Given the description of an element on the screen output the (x, y) to click on. 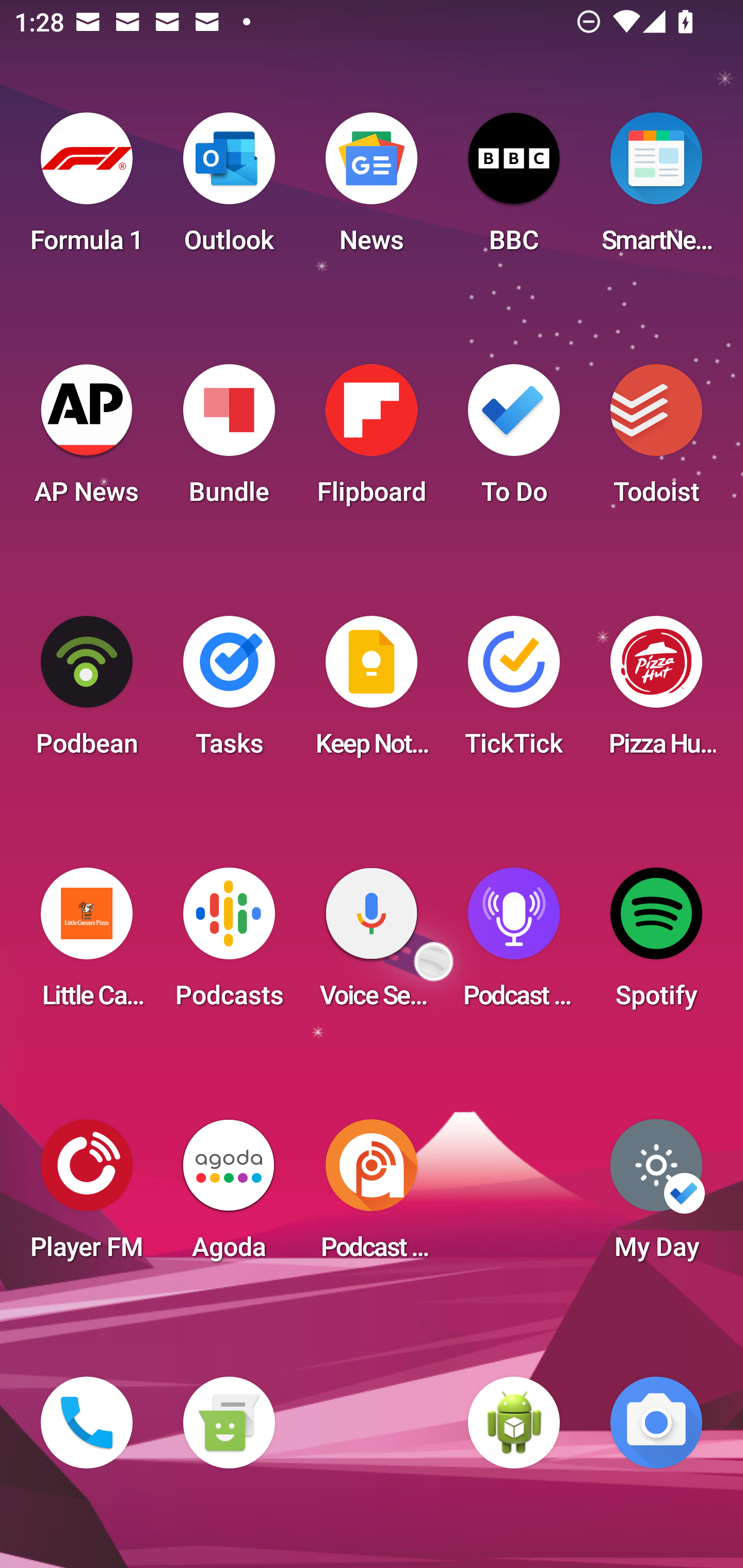
Formula 1 (86, 188)
Outlook (228, 188)
News (371, 188)
BBC (513, 188)
SmartNews (656, 188)
AP News (86, 440)
Bundle (228, 440)
Flipboard (371, 440)
To Do (513, 440)
Todoist (656, 440)
Podbean (86, 692)
Tasks (228, 692)
Keep Notes (371, 692)
TickTick (513, 692)
Pizza Hut HK & Macau (656, 692)
Little Caesars Pizza (86, 943)
Podcasts (228, 943)
Voice Search (371, 943)
Podcast Player (513, 943)
Spotify (656, 943)
Player FM (86, 1195)
Agoda (228, 1195)
Podcast Addict (371, 1195)
My Day (656, 1195)
Phone (86, 1422)
Messaging (228, 1422)
WebView Browser Tester (513, 1422)
Camera (656, 1422)
